Given the description of an element on the screen output the (x, y) to click on. 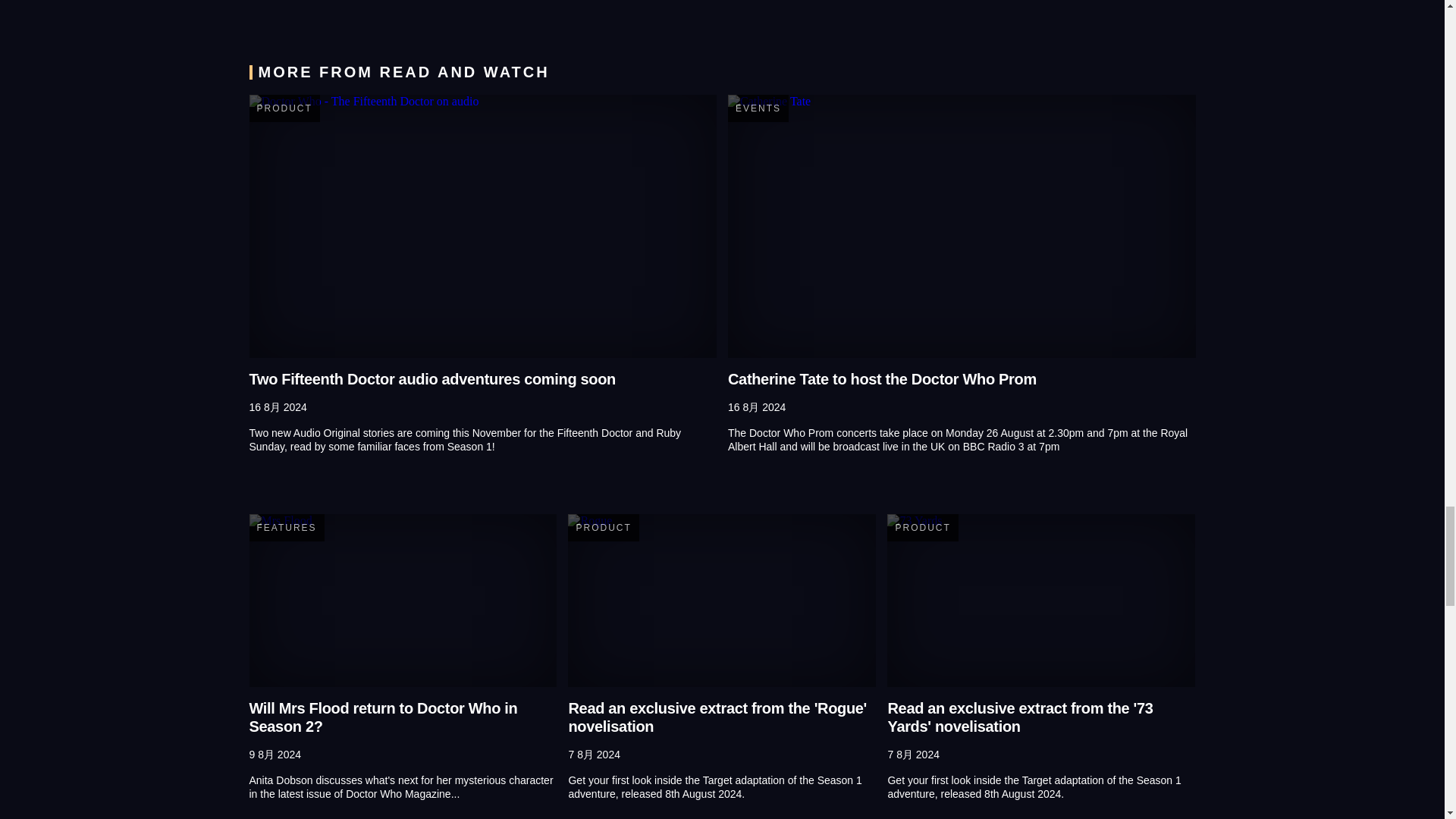
Two Fifteenth Doctor audio adventures coming soon (482, 226)
Mrs Flood (402, 600)
Rogue (721, 600)
Catherine Tate to host the Doctor Who Prom  (961, 226)
73 Yards (1040, 600)
